Given the description of an element on the screen output the (x, y) to click on. 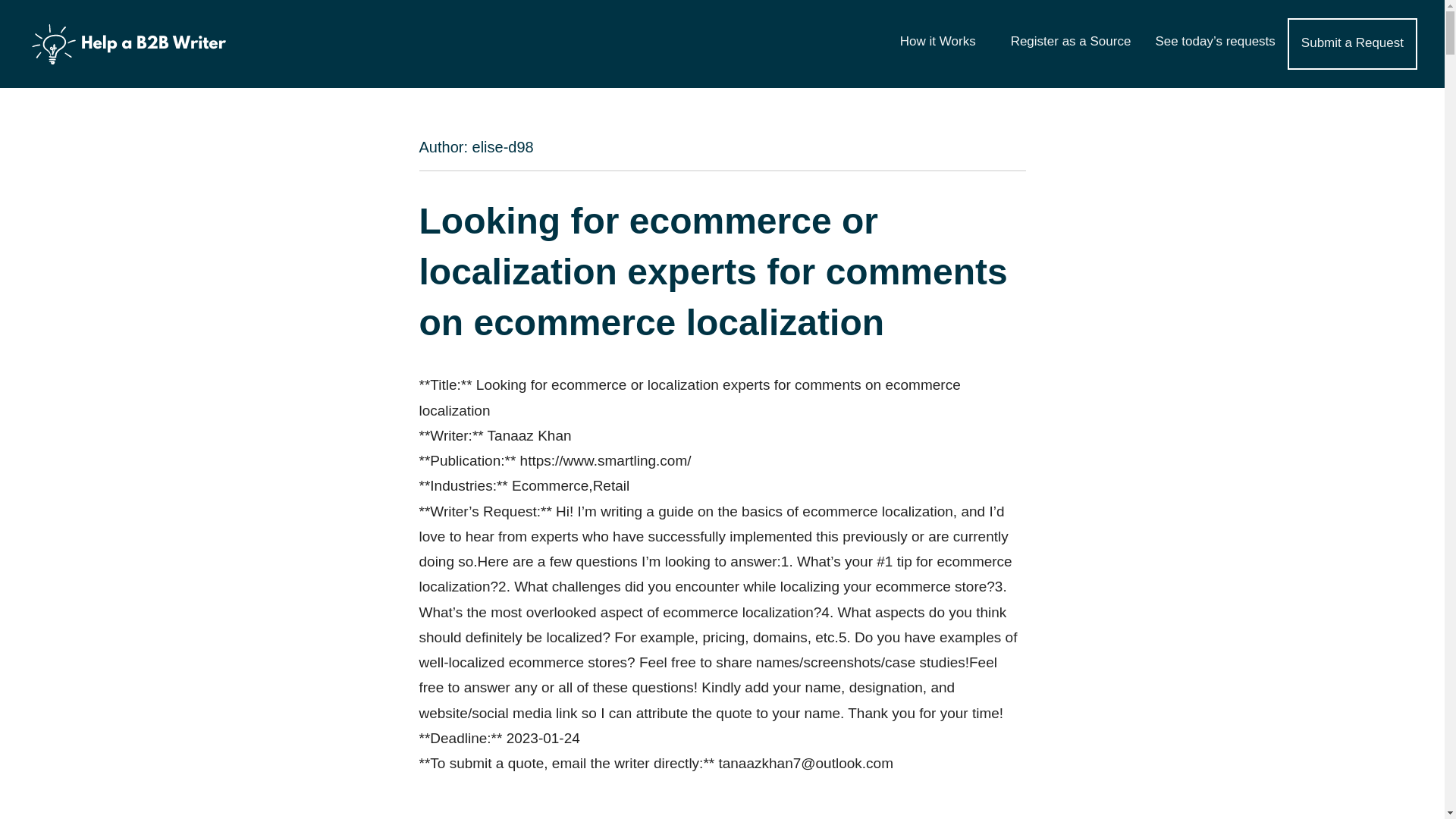
Submit a Request (1352, 43)
How it Works (943, 41)
Register as a Source (1070, 41)
